Given the description of an element on the screen output the (x, y) to click on. 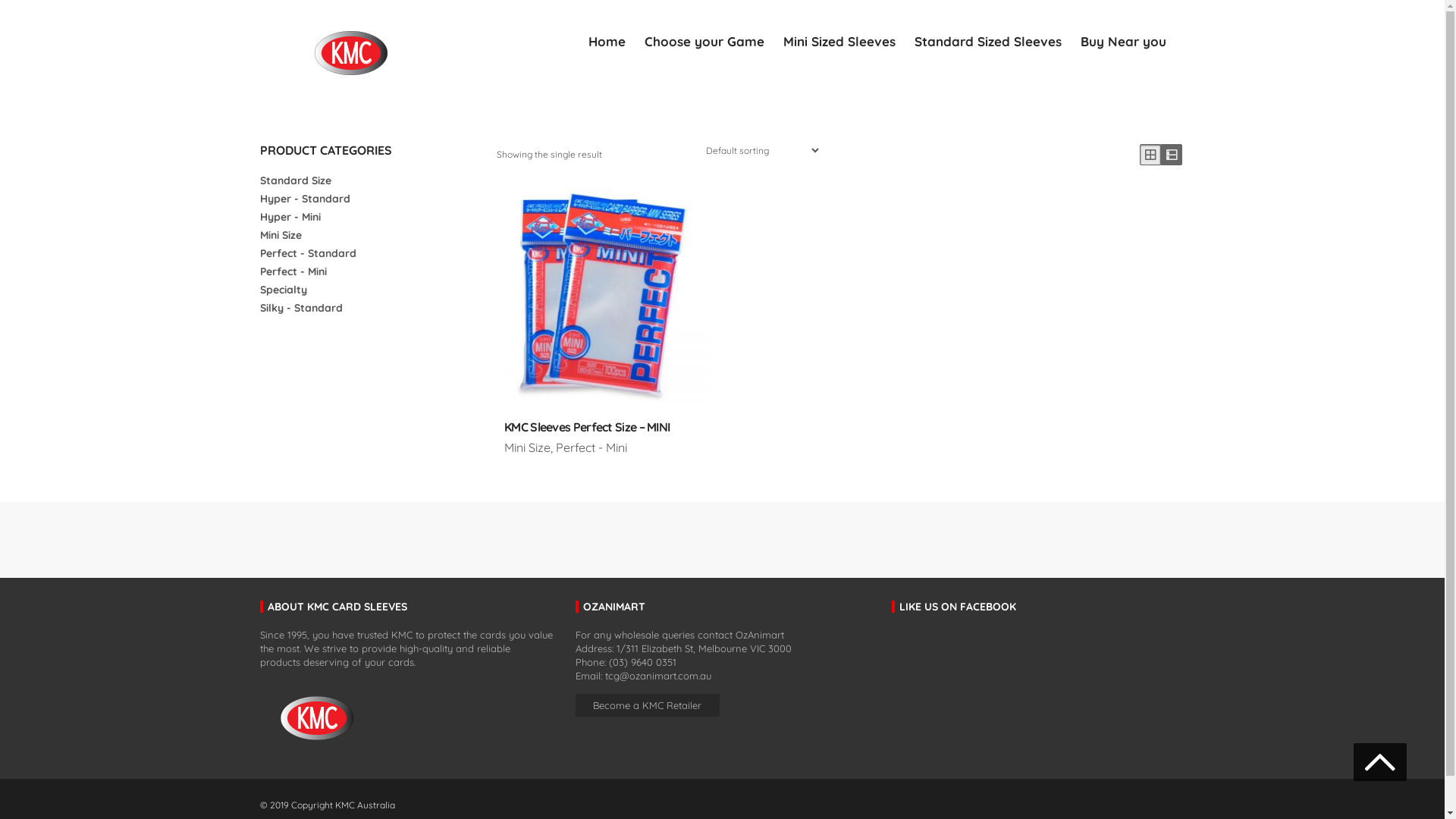
Mini Size Element type: text (527, 447)
Home Element type: text (606, 41)
Perfect - Mini Element type: text (292, 271)
Choose your Game Element type: text (704, 41)
Standard Sized Sleeves Element type: text (987, 41)
Mini Size Element type: text (280, 234)
Standard Size Element type: text (294, 180)
Become a KMC Retailer Element type: text (647, 705)
(03) 9640 0351 Element type: text (642, 661)
Become a KMC Retailer Element type: text (646, 704)
Buy Near you Element type: text (1122, 41)
Hyper - Standard Element type: text (304, 198)
Specialty Element type: text (282, 289)
Grid view Element type: hover (1149, 154)
Perfect - Standard Element type: text (307, 253)
Hyper - Mini Element type: text (289, 216)
Silky - Standard Element type: text (300, 307)
Perfect - Mini Element type: text (591, 447)
Mini Sized Sleeves Element type: text (838, 41)
List view Element type: hover (1170, 154)
